Given the description of an element on the screen output the (x, y) to click on. 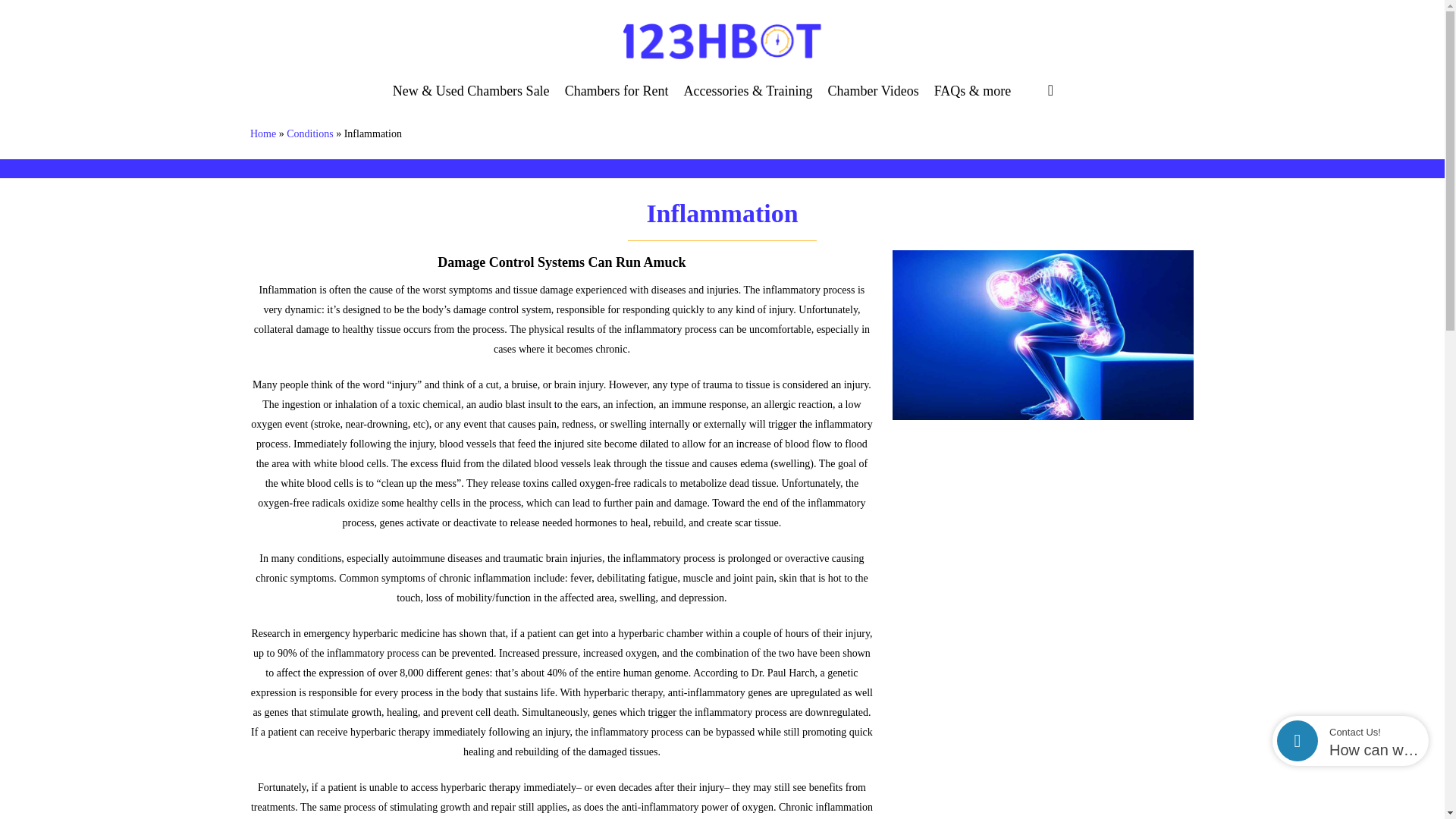
Conditions (309, 133)
How can we help you? (1373, 750)
Chambers for Rent (616, 97)
Contact Us! (1373, 731)
Home (263, 133)
Chamber Videos (873, 97)
search (1050, 90)
